Given the description of an element on the screen output the (x, y) to click on. 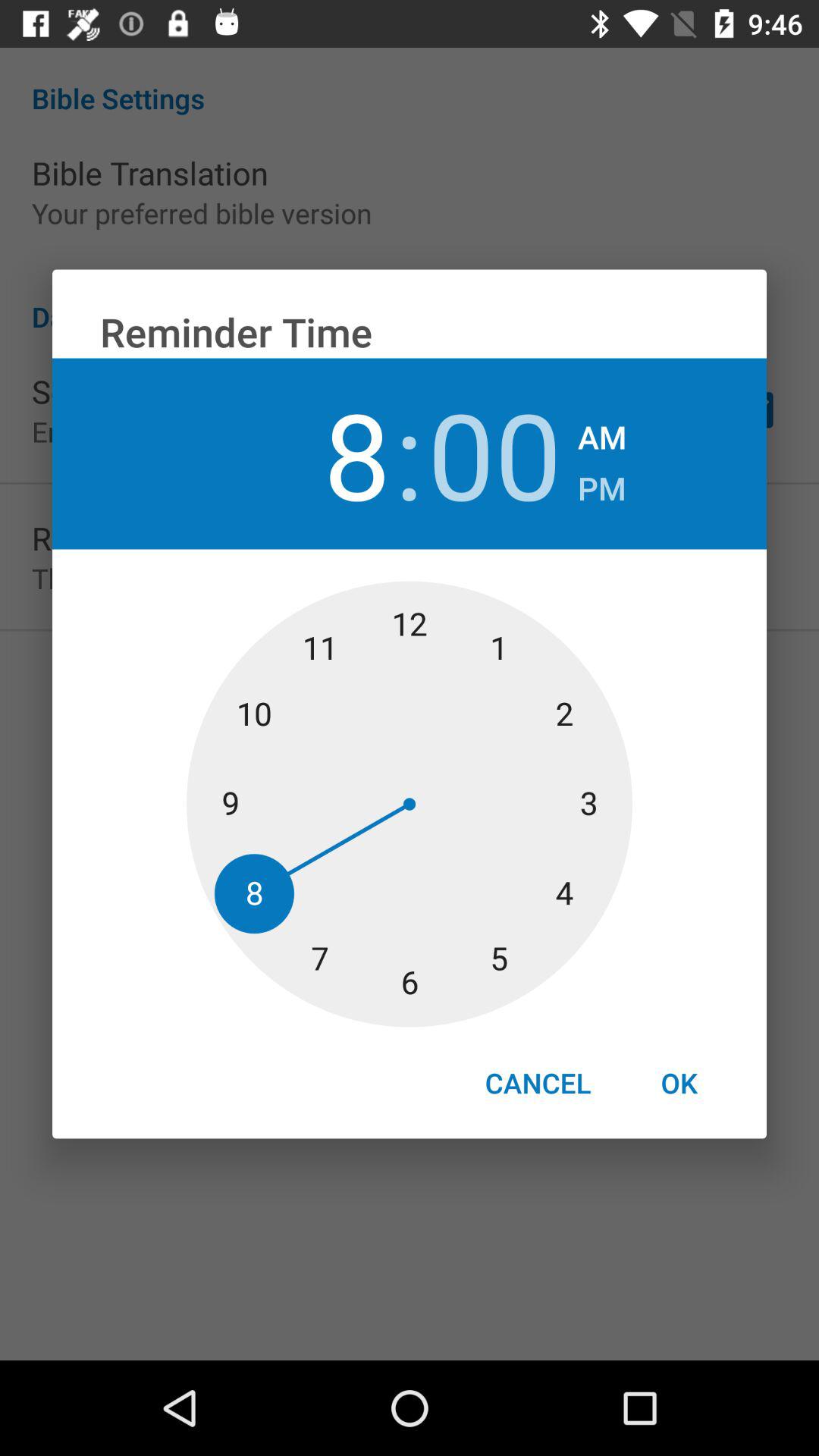
press icon next to the 00 item (601, 432)
